Given the description of an element on the screen output the (x, y) to click on. 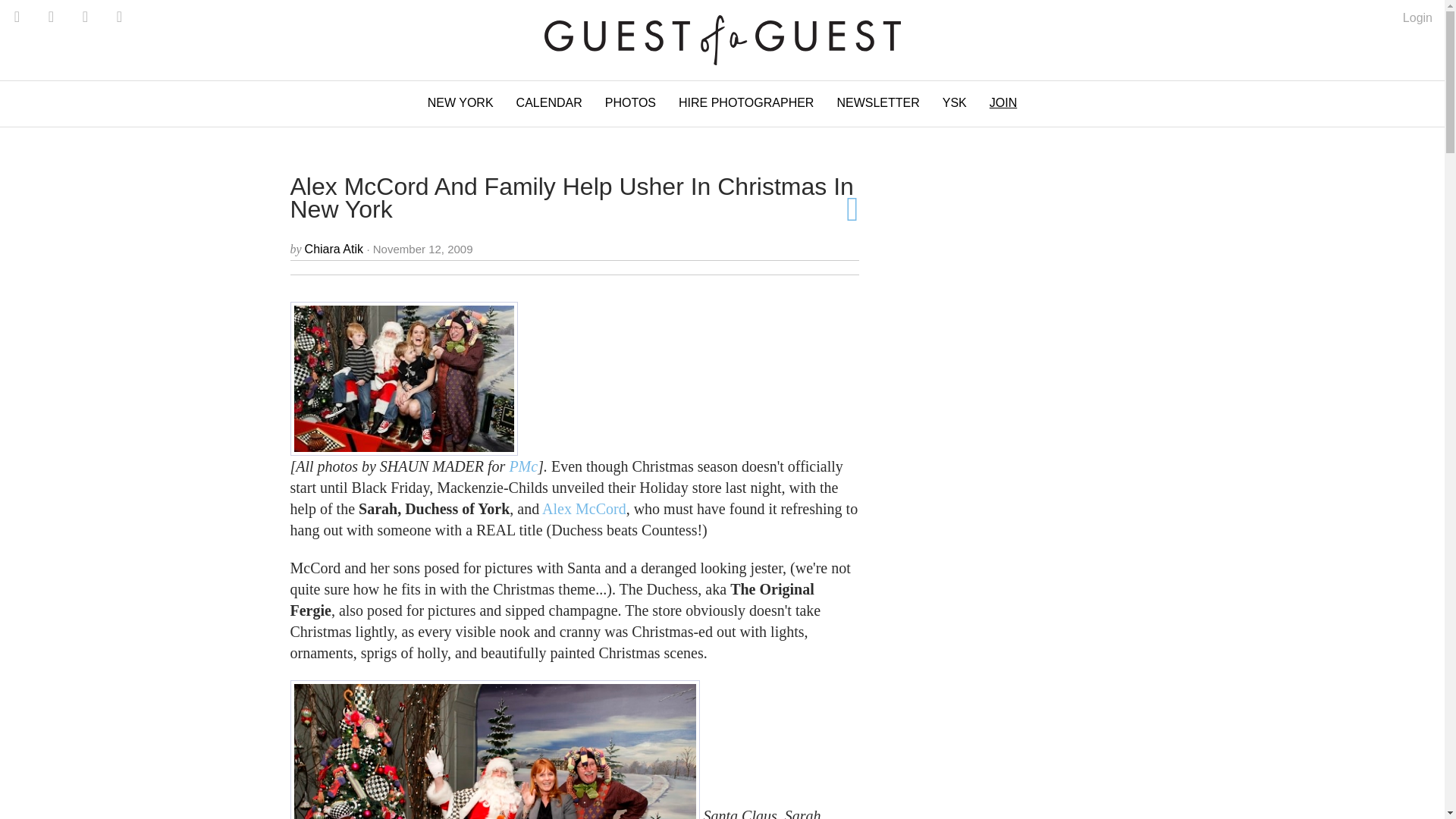
CALENDAR (549, 103)
PMc (522, 466)
Login (1417, 17)
HIRE PHOTOGRAPHER (745, 103)
Alex McCord (583, 508)
NEWSLETTER (877, 103)
JOIN (1002, 103)
Alex McCord  (402, 378)
Alex McCord (583, 508)
YSK (954, 103)
